Given the description of an element on the screen output the (x, y) to click on. 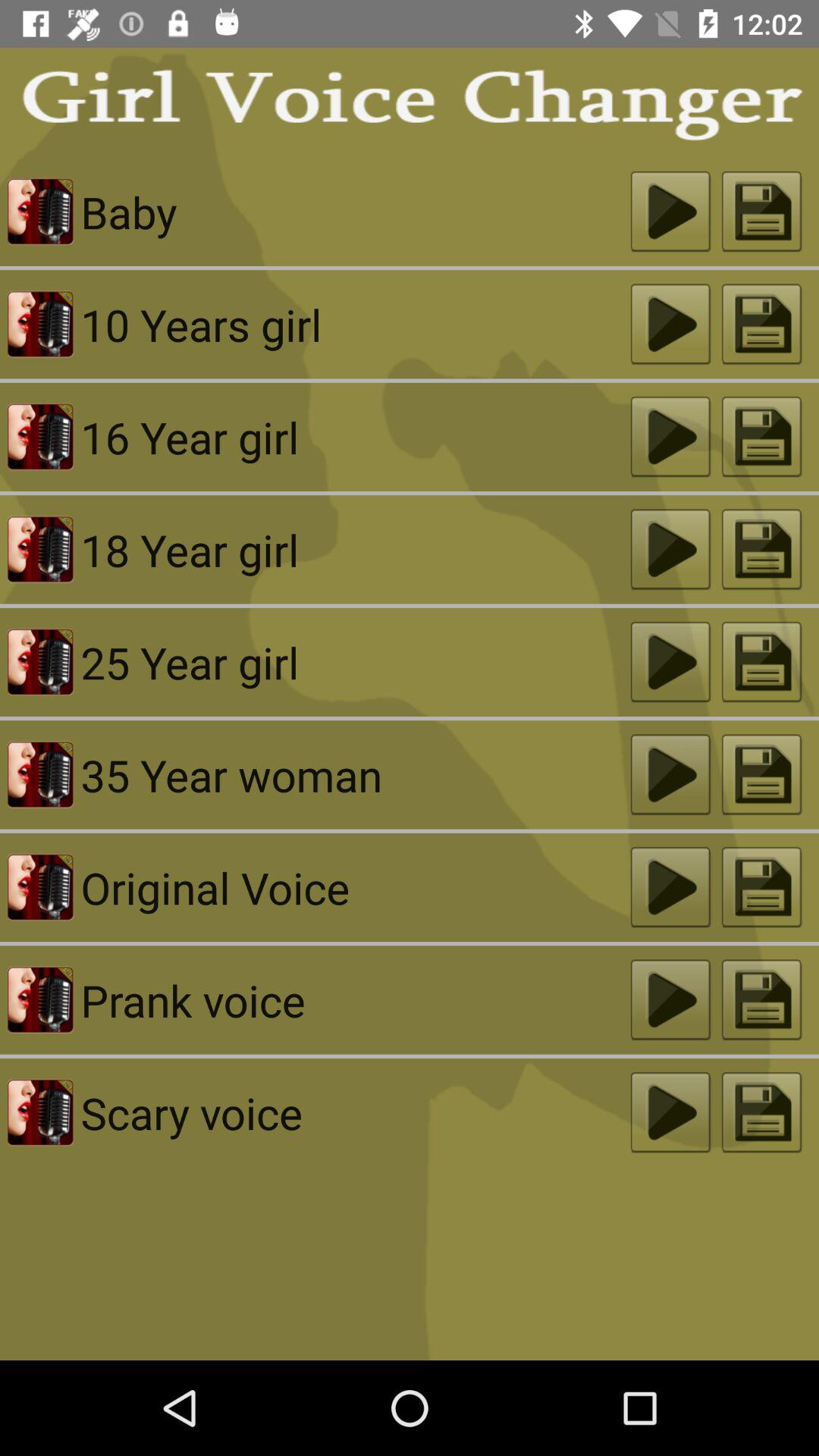
open the 35 year woman (355, 774)
